Given the description of an element on the screen output the (x, y) to click on. 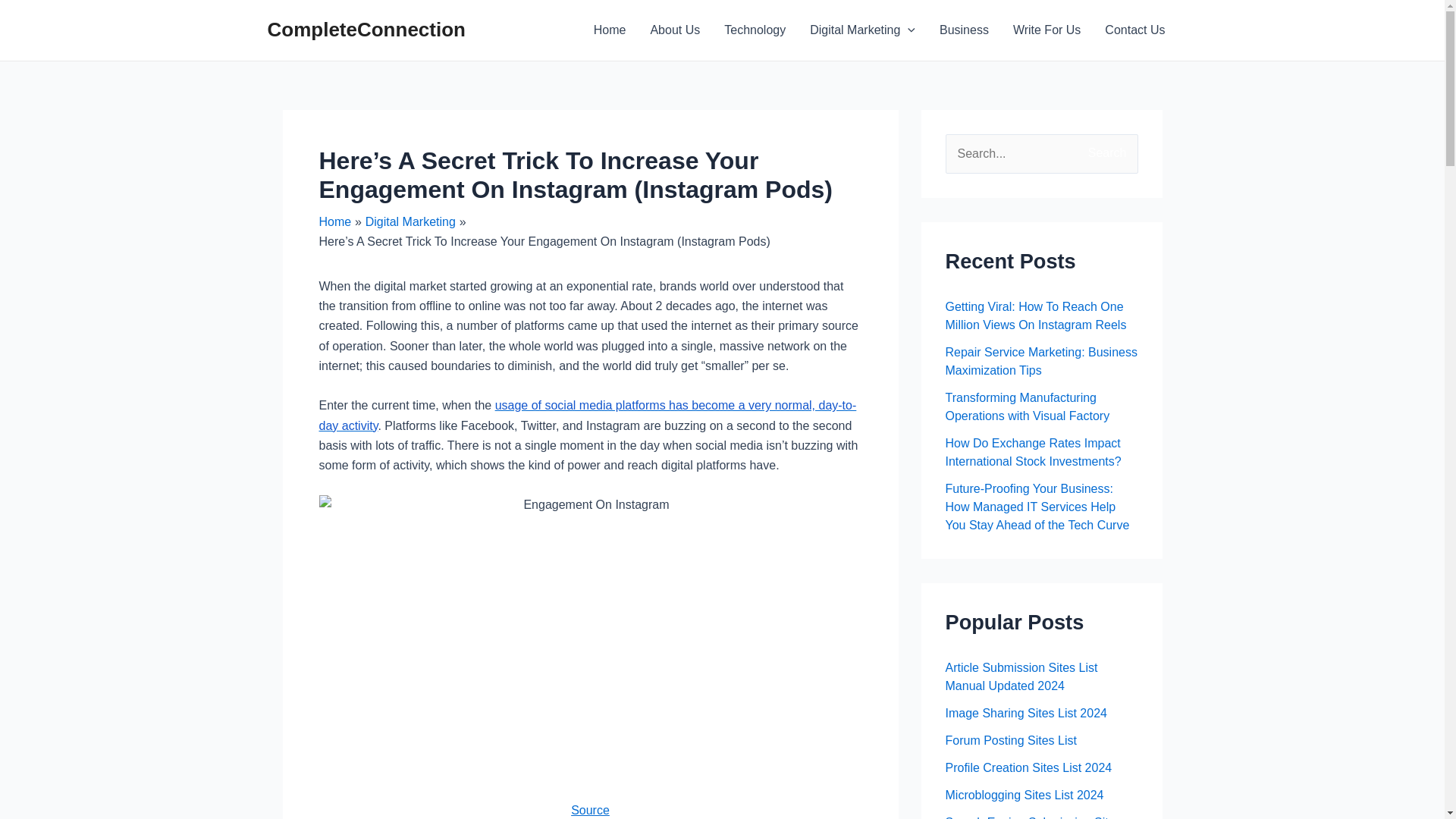
Business (964, 30)
Write For Us (1047, 30)
About Us (674, 30)
CompleteConnection (365, 29)
Search (1120, 150)
Contact Us (1134, 30)
Home (334, 221)
Technology (754, 30)
Source (590, 809)
Digital Marketing (862, 30)
Search (1120, 150)
Home (609, 30)
Digital Marketing (410, 221)
